Given the description of an element on the screen output the (x, y) to click on. 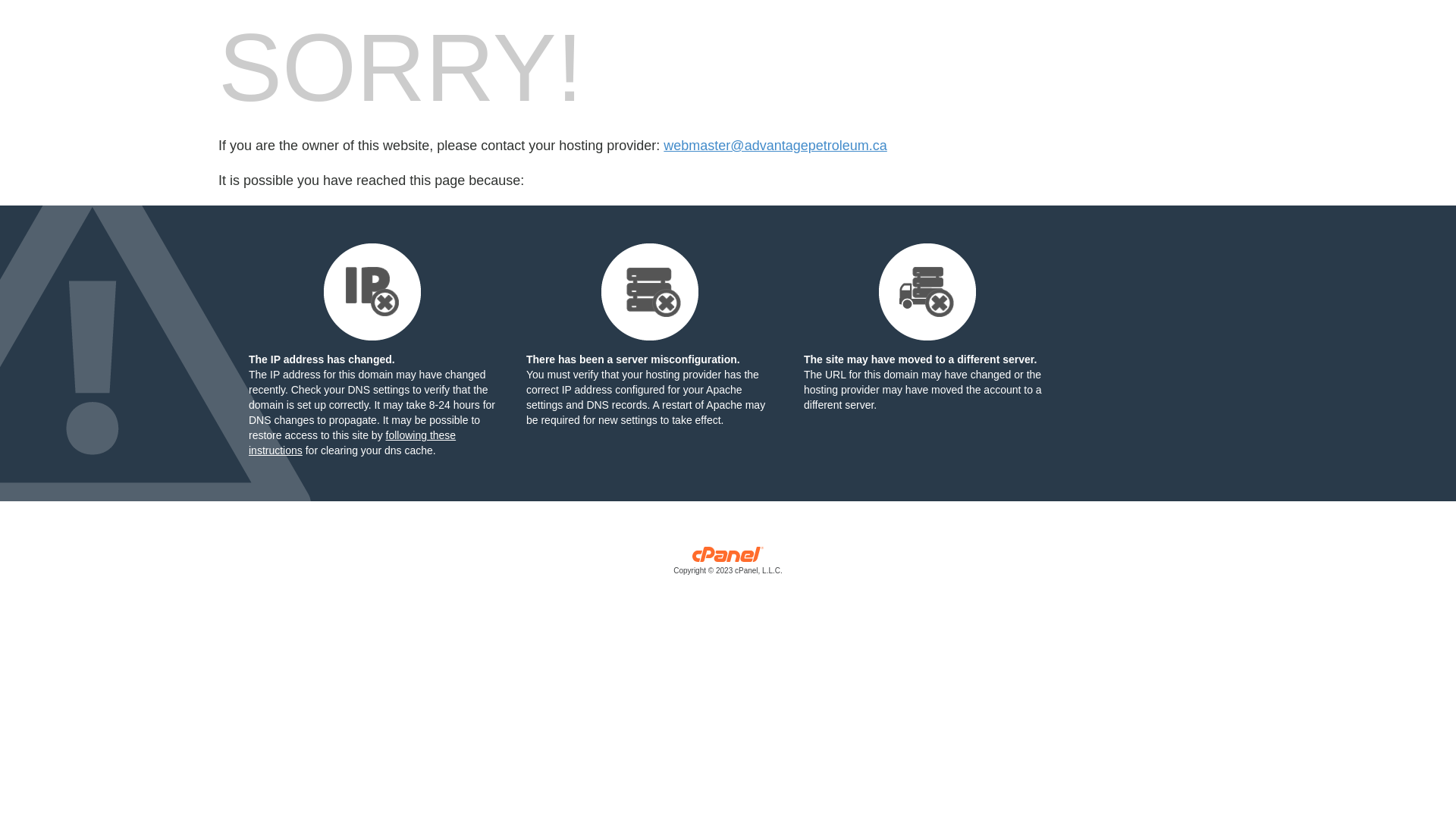
webmaster@advantagepetroleum.ca Element type: text (774, 145)
following these instructions Element type: text (351, 442)
